Given the description of an element on the screen output the (x, y) to click on. 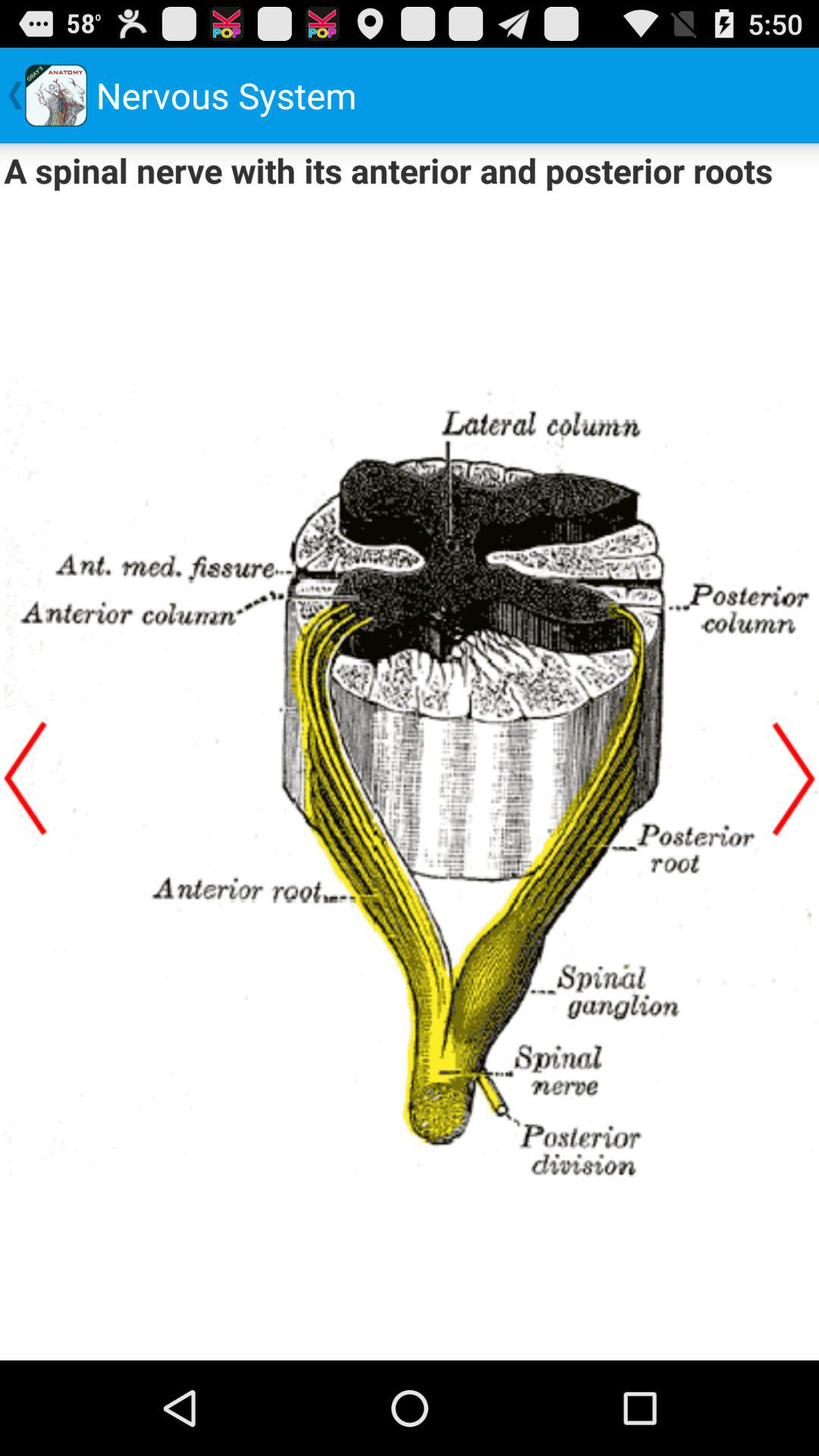
content display field (409, 778)
